Given the description of an element on the screen output the (x, y) to click on. 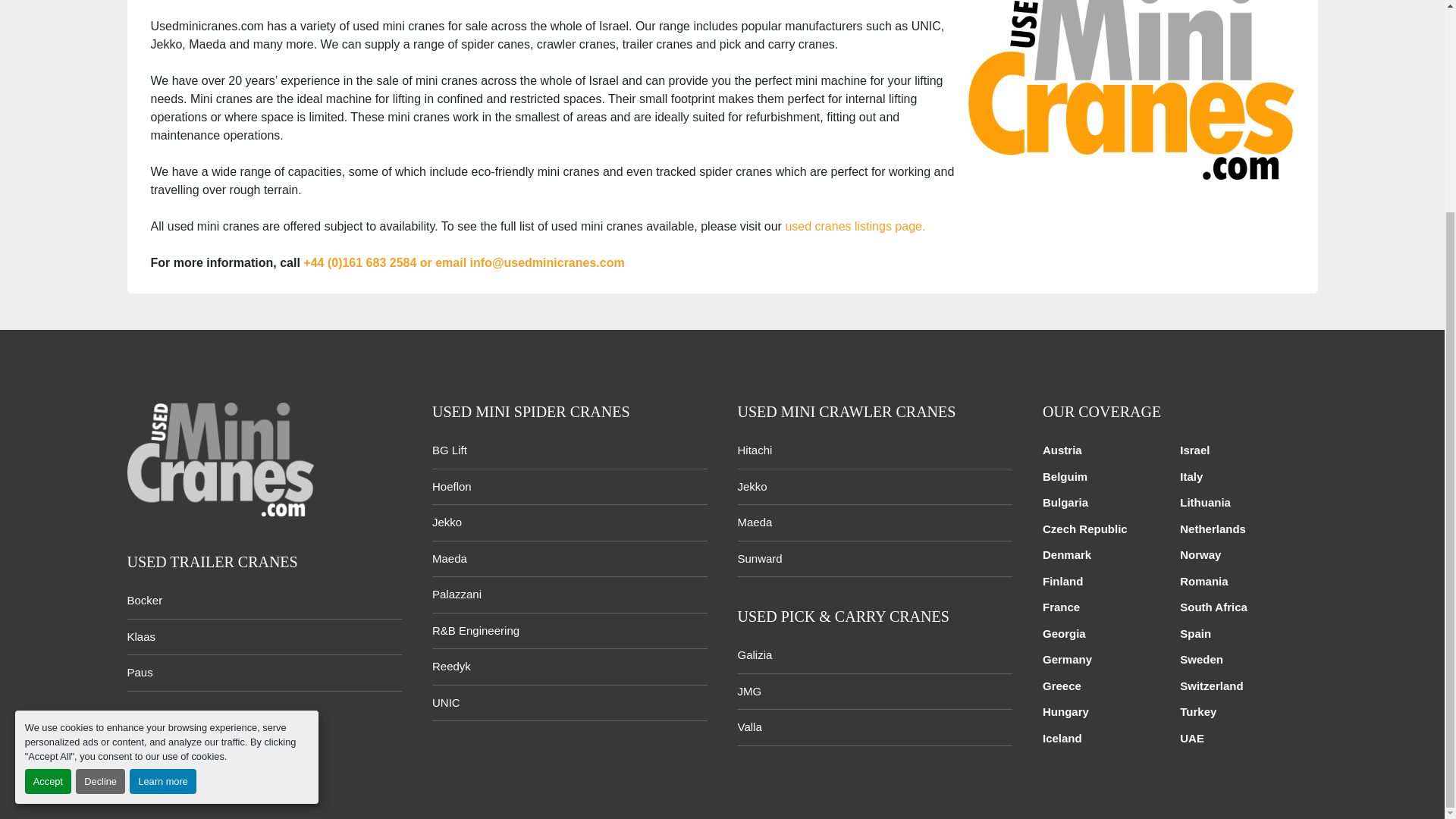
Bocker (145, 599)
BG Lift (449, 449)
Decline (100, 504)
Hoeflon (451, 486)
Reedyk (451, 666)
Accept cookies (47, 504)
Hitachi (753, 449)
Accept (47, 504)
used cranes listings page. (854, 226)
Paus (140, 671)
Jekko (446, 521)
Klaas (141, 635)
Palazzani (456, 594)
Maeda (449, 558)
Learn more (162, 504)
